Given the description of an element on the screen output the (x, y) to click on. 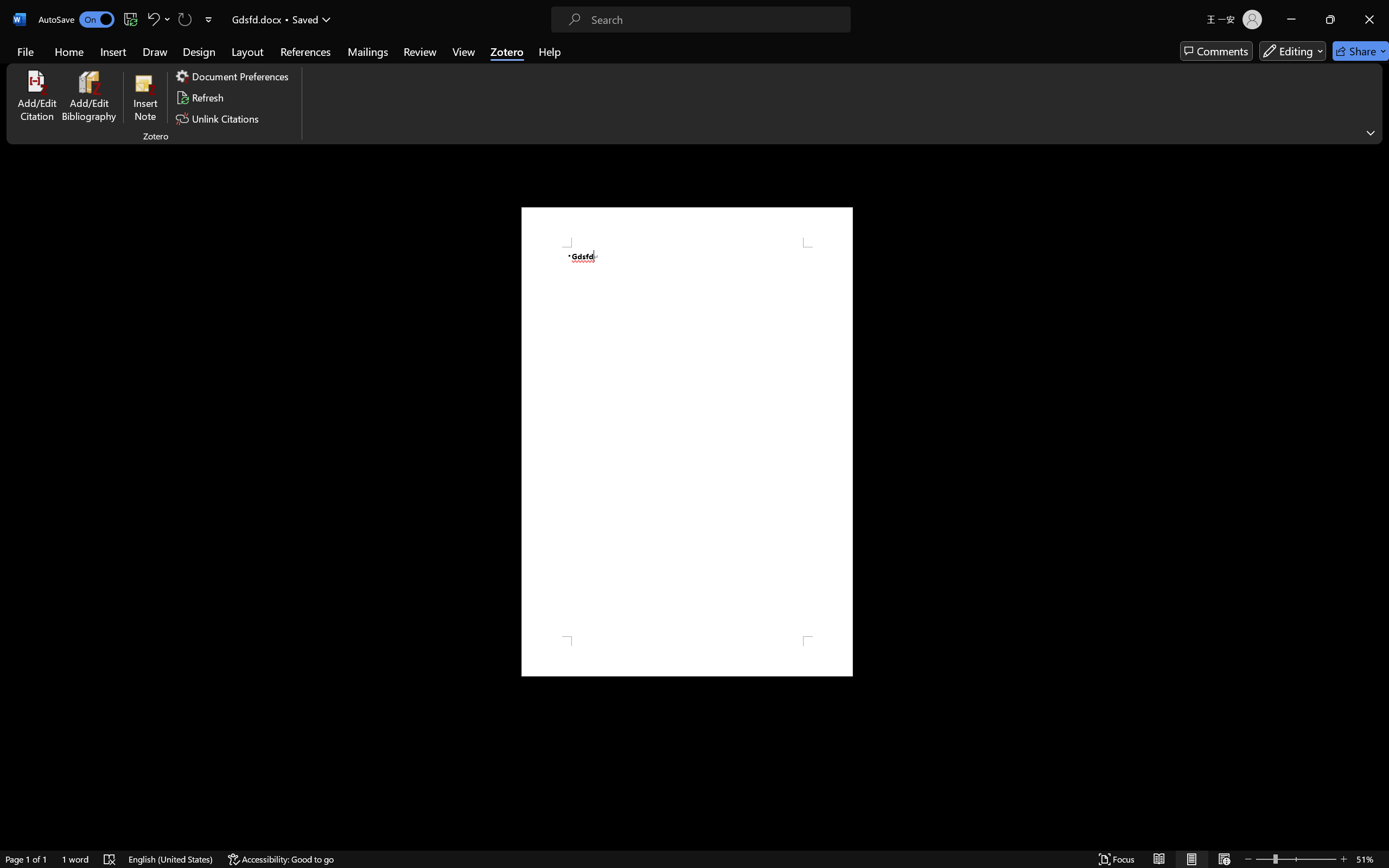
Page 1 content (686, 441)
